Given the description of an element on the screen output the (x, y) to click on. 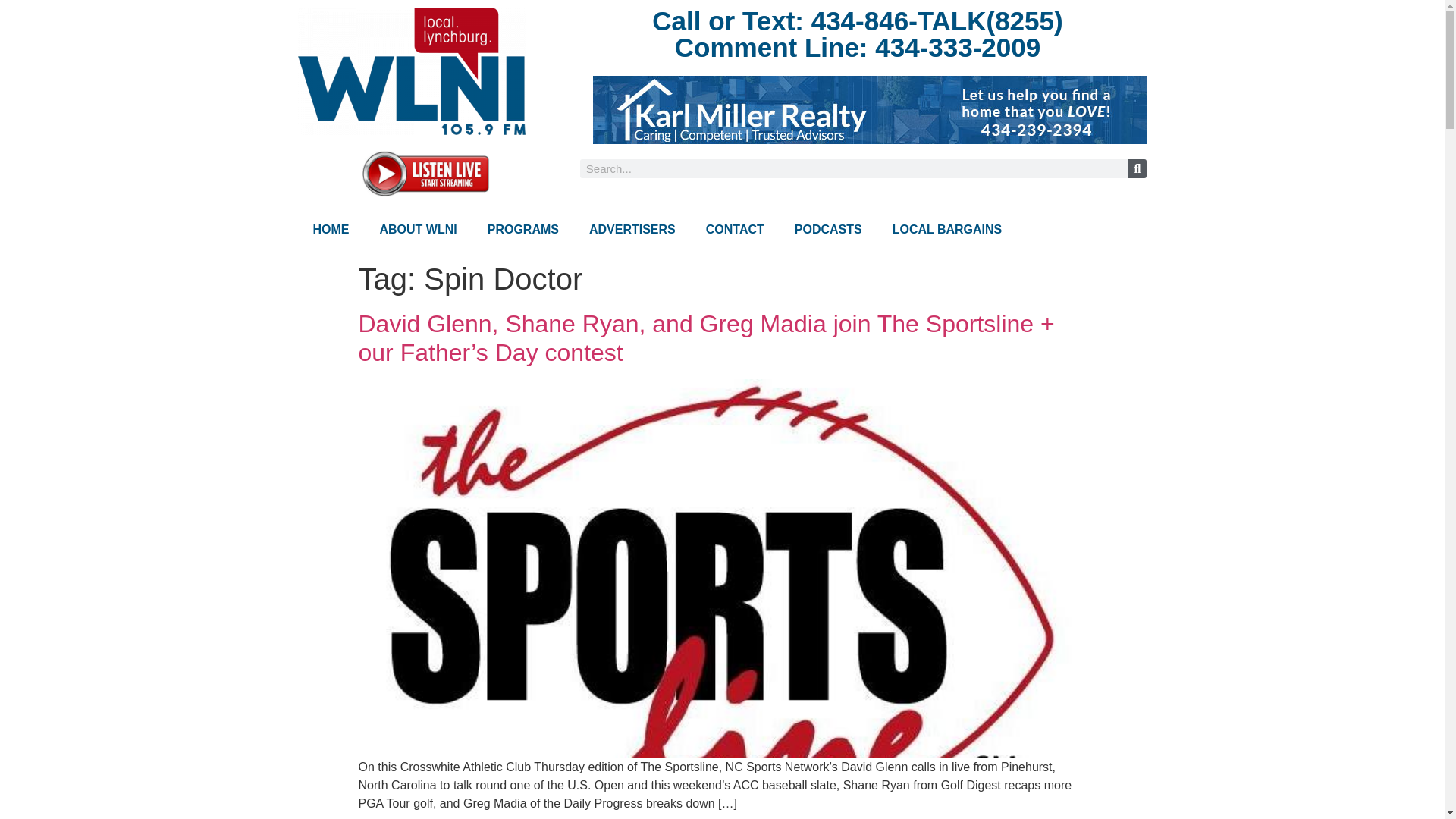
HOME (330, 229)
ABOUT WLNI (417, 229)
ADVERTISERS (631, 229)
CONTACT (734, 229)
PODCASTS (827, 229)
LOCAL BARGAINS (947, 229)
PROGRAMS (522, 229)
